Given the description of an element on the screen output the (x, y) to click on. 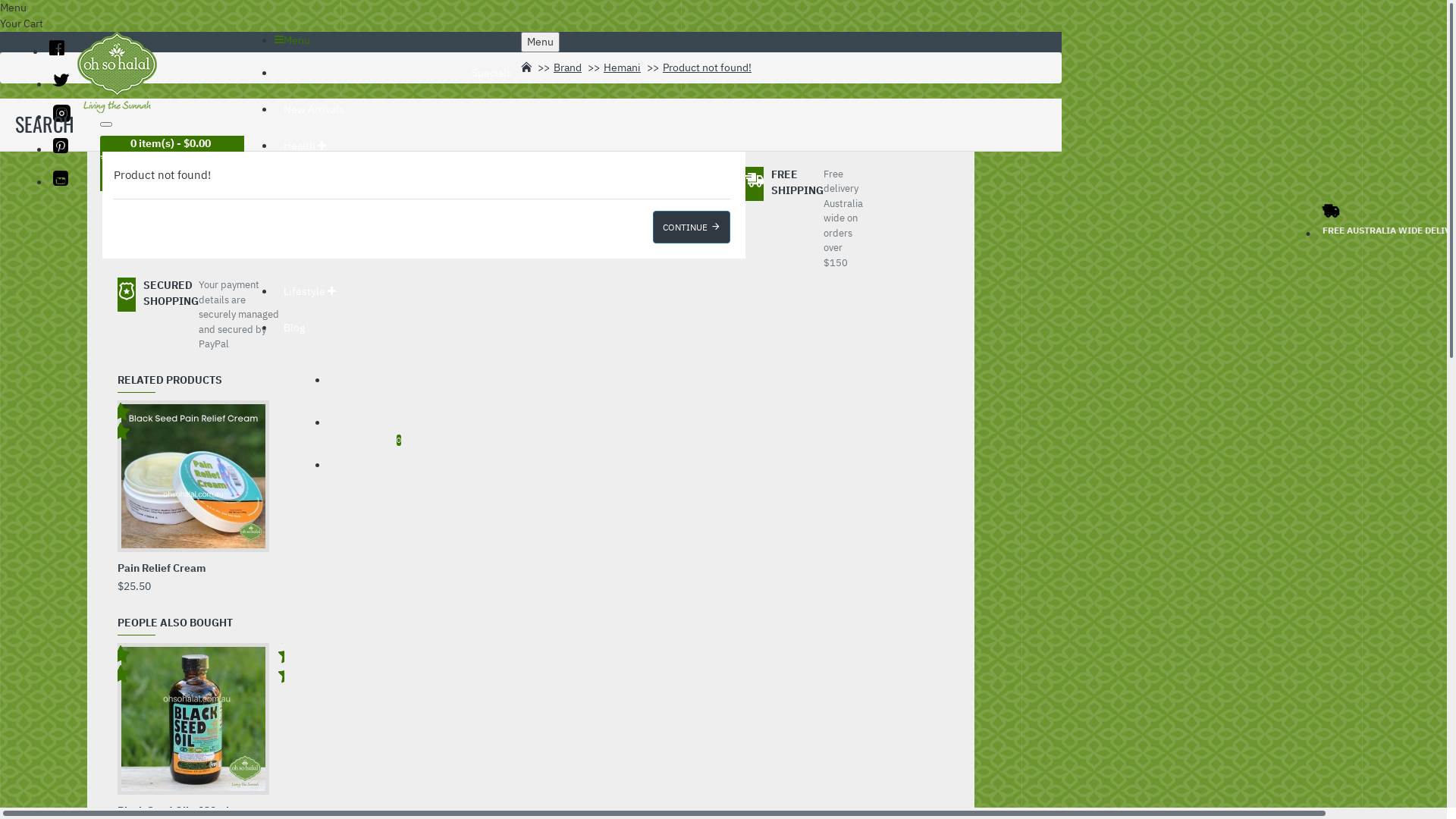
New Arrivals Element type: text (313, 110)
Menu Element type: text (292, 39)
Pain Relief Cream Element type: text (161, 568)
Beauty Element type: text (305, 183)
Specials Element type: text (397, 74)
Menu Element type: text (539, 41)
Lifestyle Element type: text (309, 292)
Login Element type: text (354, 375)
Brand Element type: text (567, 67)
Black Seed Oil - 120ml Element type: hover (193, 718)
Register Element type: text (358, 418)
Pain Relief Cream Element type: hover (193, 476)
Health Element type: text (304, 146)
Hair Care Element type: text (310, 256)
Hemani Element type: text (621, 67)
0 item(s) - $0.00
0 Element type: text (158, 152)
Skin Care Element type: text (311, 219)
Product not found! Element type: text (706, 67)
Wishlist
0 Element type: text (359, 460)
Oh So Halal Element type: hover (116, 71)
CONTINUE Element type: text (690, 226)
Blog Element type: text (293, 328)
